Given the description of an element on the screen output the (x, y) to click on. 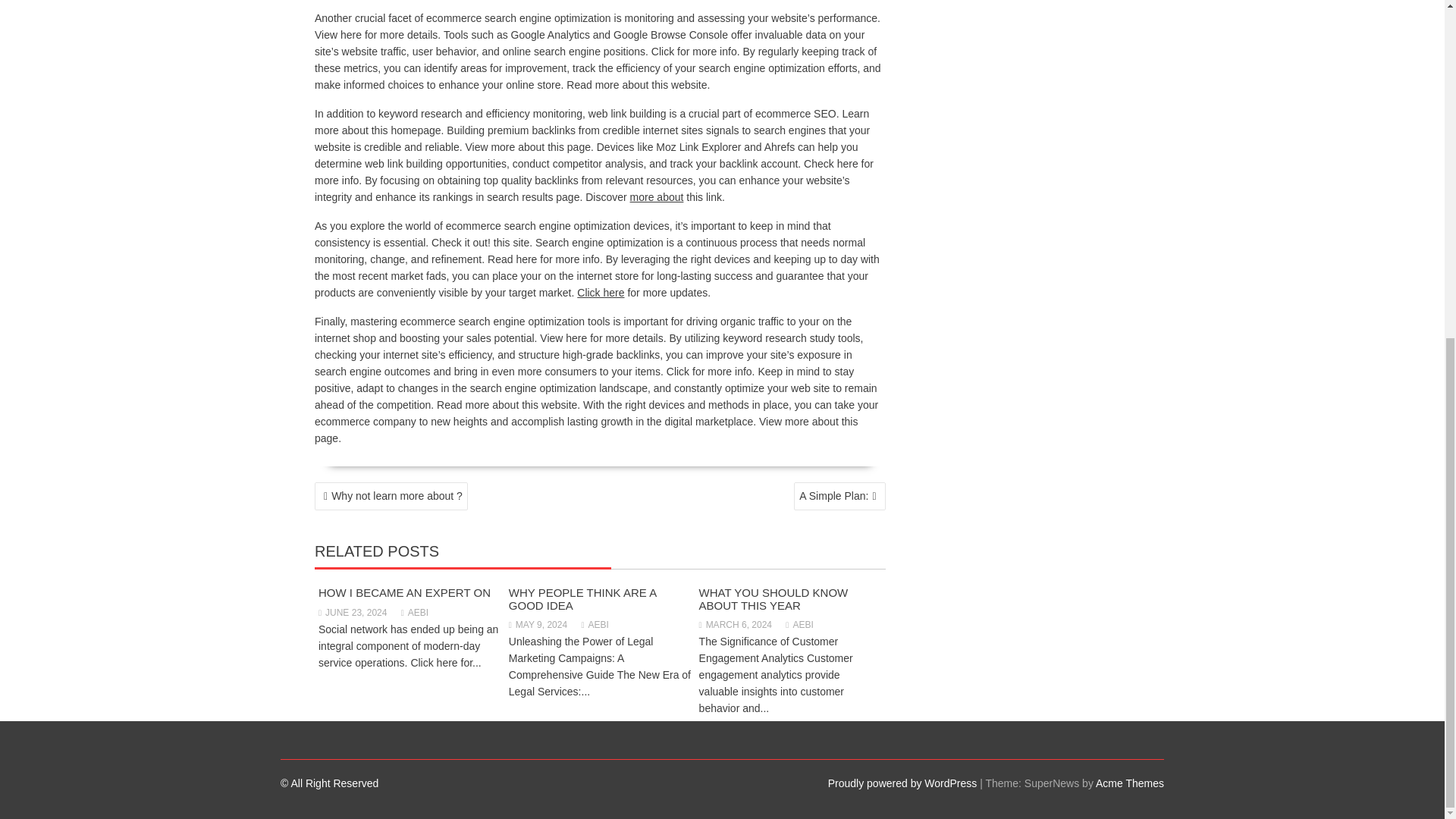
WHAT YOU SHOULD KNOW ABOUT THIS YEAR (773, 598)
MARCH 6, 2024 (734, 624)
MAY 9, 2024 (537, 624)
Click here (600, 292)
AEBI (414, 612)
AEBI (799, 624)
more about (657, 196)
AEBI (594, 624)
Acme Themes (1129, 783)
A Simple Plan: (839, 496)
WHY PEOPLE THINK ARE A GOOD IDEA (582, 598)
JUNE 23, 2024 (352, 612)
Proudly powered by WordPress (902, 783)
HOW I BECAME AN EXPERT ON (404, 592)
Why not learn more about ? (390, 496)
